Given the description of an element on the screen output the (x, y) to click on. 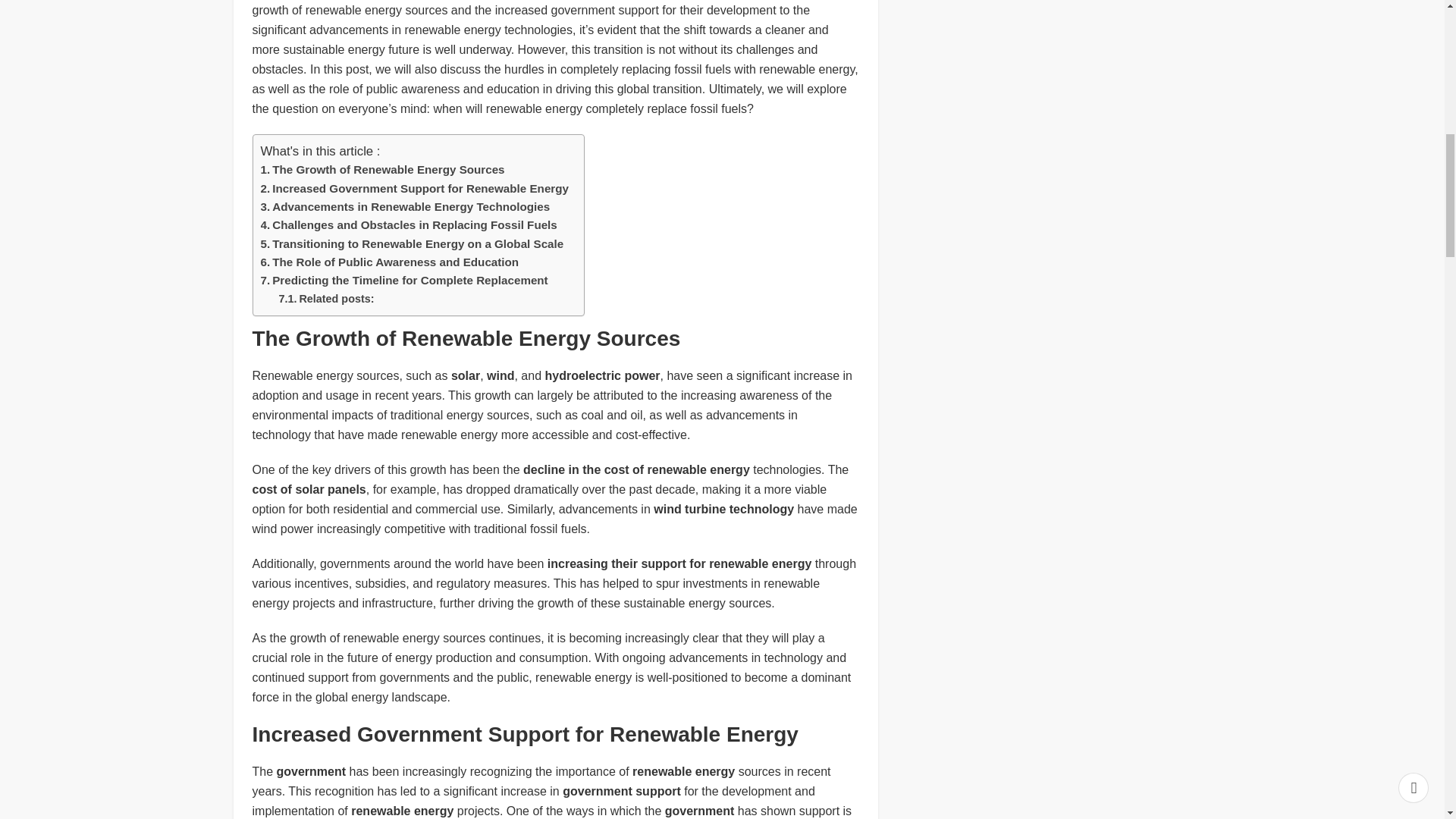
Challenges and Obstacles in Replacing Fossil Fuels (408, 225)
Advancements in Renewable Energy Technologies (405, 207)
Related posts: (326, 298)
Challenges and Obstacles in Replacing Fossil Fuels (408, 225)
The Growth of Renewable Energy Sources (382, 169)
The Role of Public Awareness and Education (389, 262)
Transitioning to Renewable Energy on a Global Scale (412, 244)
Predicting the Timeline for Complete Replacement (404, 280)
Increased Government Support for Renewable Energy (414, 188)
Predicting the Timeline for Complete Replacement (404, 280)
Transitioning to Renewable Energy on a Global Scale (412, 244)
Increased Government Support for Renewable Energy (414, 188)
Advancements in Renewable Energy Technologies (405, 207)
The Growth of Renewable Energy Sources (382, 169)
The Role of Public Awareness and Education (389, 262)
